Given the description of an element on the screen output the (x, y) to click on. 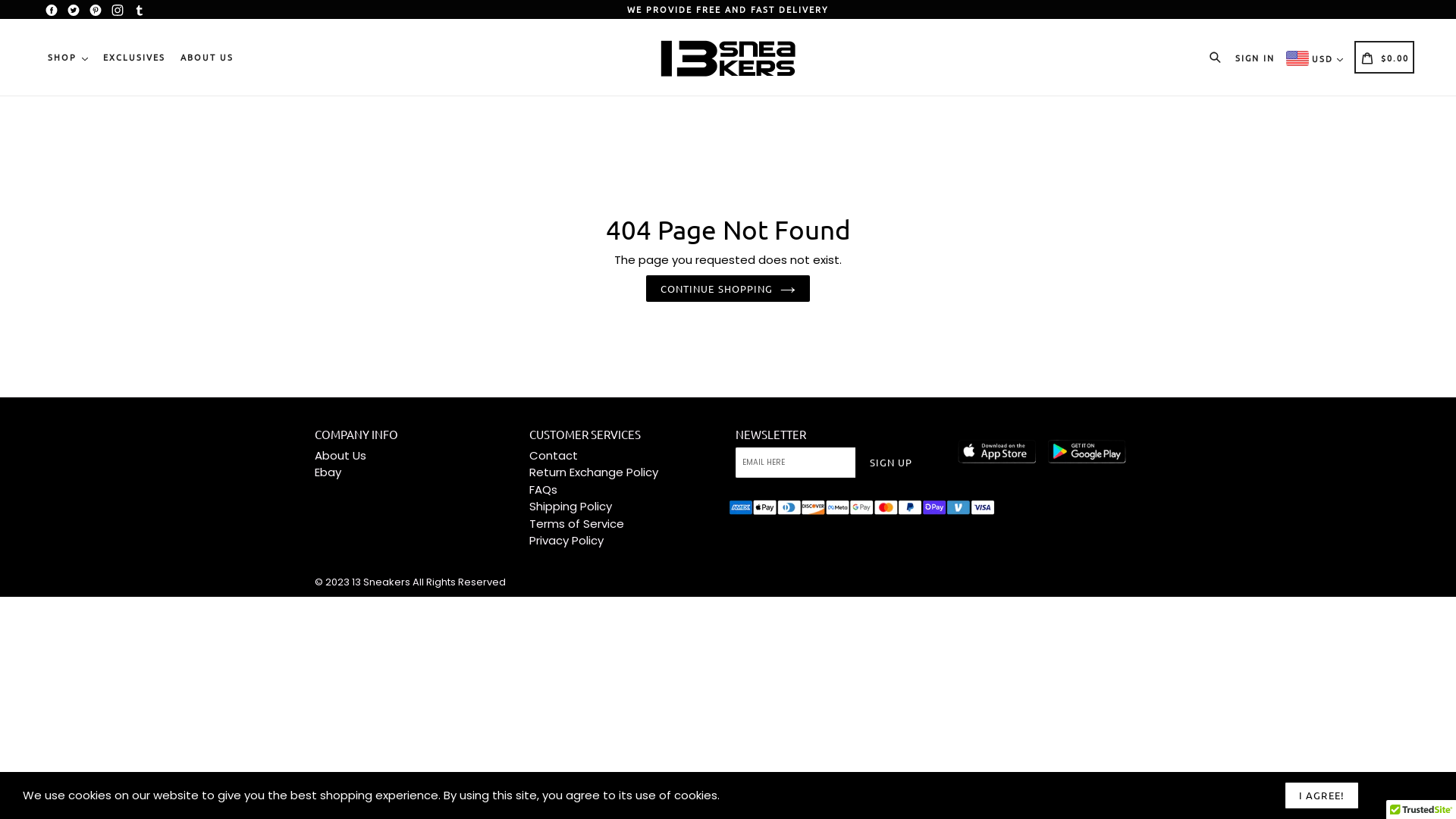
CONTINUE SHOPPING Element type: text (727, 288)
EXCLUSIVES Element type: text (134, 57)
Shipping Policy Element type: text (570, 506)
Search Element type: text (1217, 56)
Contact Element type: text (553, 455)
Ebay Element type: text (327, 472)
FAQs Element type: text (543, 489)
CART
CART
$0.00 Element type: text (1384, 56)
I AGREE! Element type: text (1321, 795)
SIGN IN Element type: text (1254, 56)
13 Sneakers All Rights Reserved Element type: text (428, 581)
ABOUT US Element type: text (206, 57)
Tumblr Element type: text (139, 9)
Privacy Policy Element type: text (566, 540)
Twitter Element type: text (73, 9)
Instagram Element type: text (117, 9)
Terms of Service Element type: text (576, 523)
SIGN UP Element type: text (890, 462)
About Us Element type: text (340, 455)
Return Exchange Policy Element type: text (593, 472)
Facebook Element type: text (51, 9)
Pinterest Element type: text (95, 9)
